Given the description of an element on the screen output the (x, y) to click on. 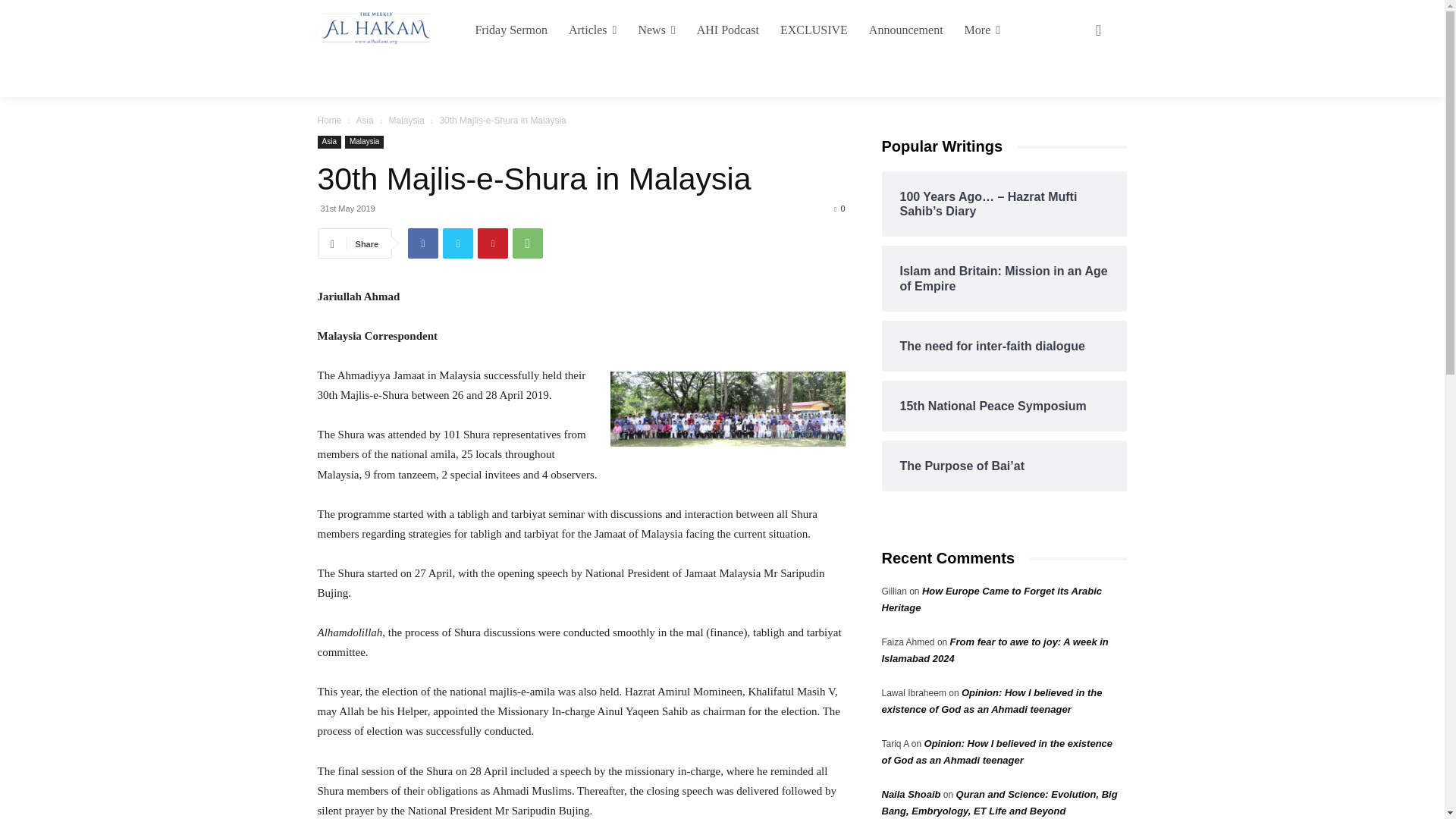
WhatsApp (527, 243)
View all posts in Asia (363, 120)
Facebook (422, 243)
Pinterest (492, 243)
30th Majlis-e-Shura in Malaysia 1 (727, 408)
Twitter (457, 243)
View all posts in Malaysia (405, 120)
Alhakam (372, 27)
